Given the description of an element on the screen output the (x, y) to click on. 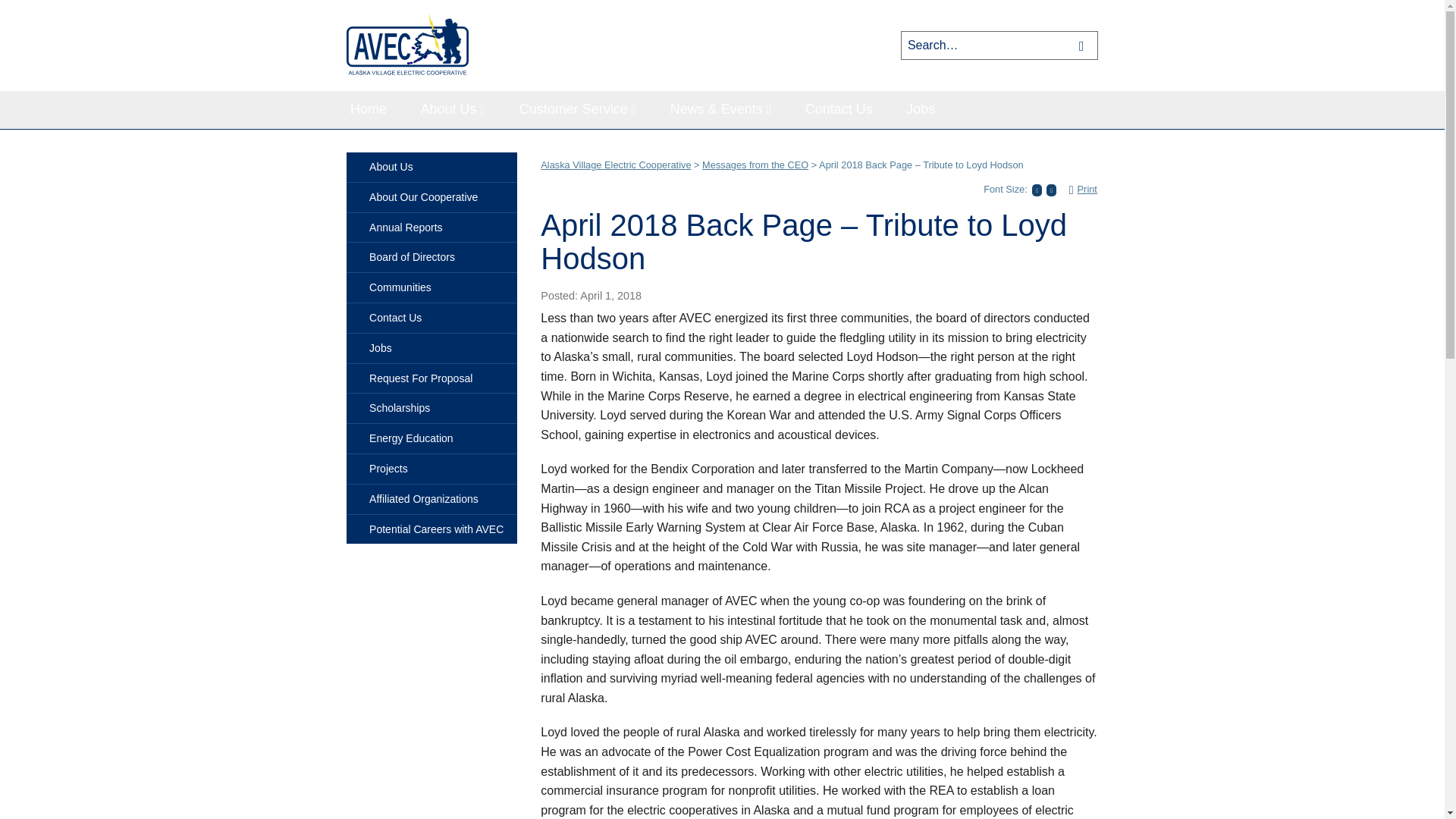
Alaska Village Electric Cooperative -  (408, 44)
Messages from the CEO (754, 164)
Home (367, 108)
Customer Service (577, 108)
Go to the Messages from the CEO Category archives. (754, 164)
About Us (453, 108)
Contact Us (839, 108)
Alaska Village Electric Cooperative (615, 164)
Jobs (920, 108)
Go (1084, 44)
